Given the description of an element on the screen output the (x, y) to click on. 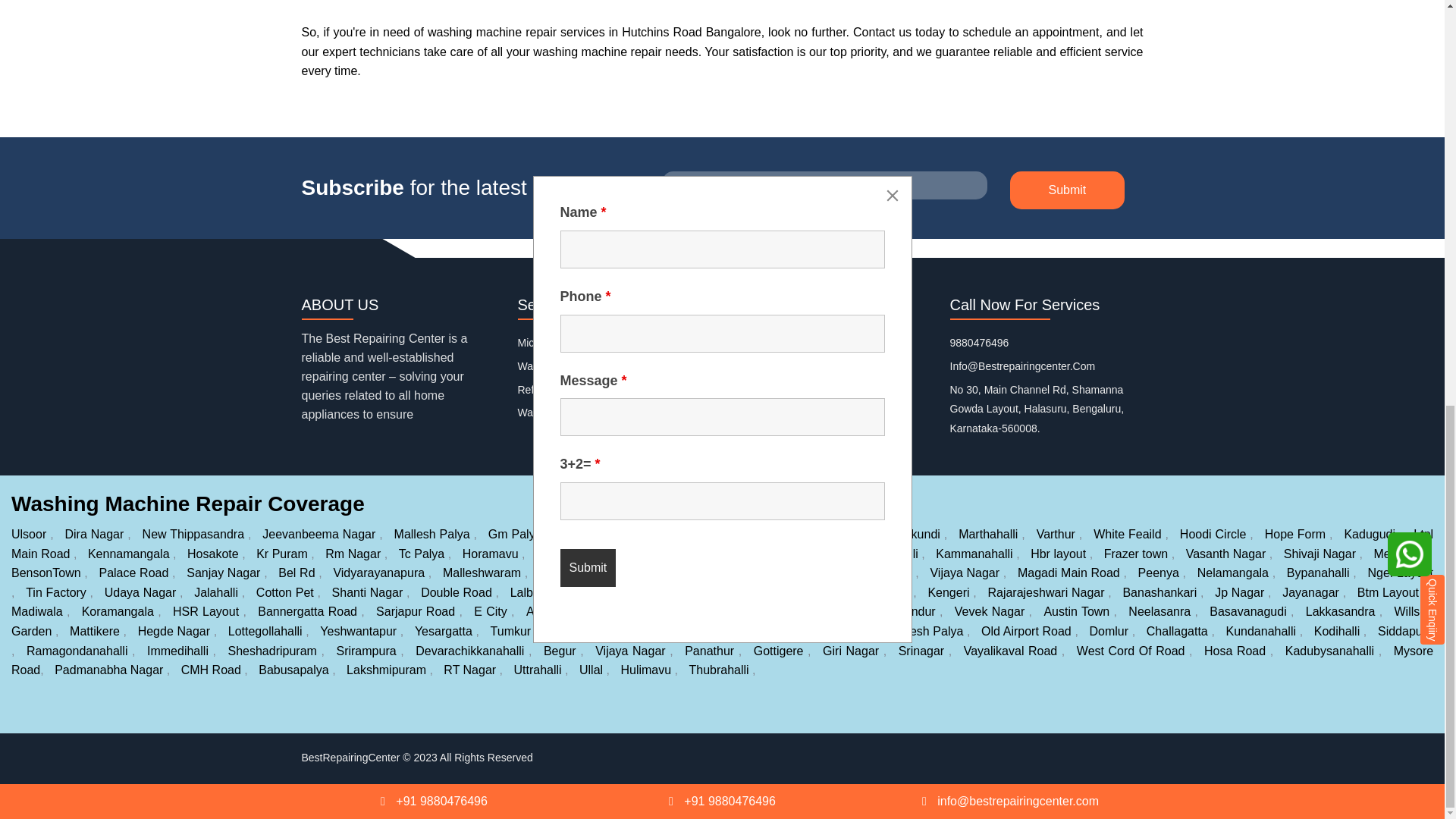
Home (747, 342)
Ulsoor (30, 533)
9880476496 (979, 342)
Submit (1067, 190)
About Us (755, 366)
Privacy Policy (766, 412)
Washing Machine Repair In Hyderabad (608, 412)
Contact Us (759, 389)
Submit (1067, 190)
Microwave Oven Repair In Bangalore (605, 342)
